Given the description of an element on the screen output the (x, y) to click on. 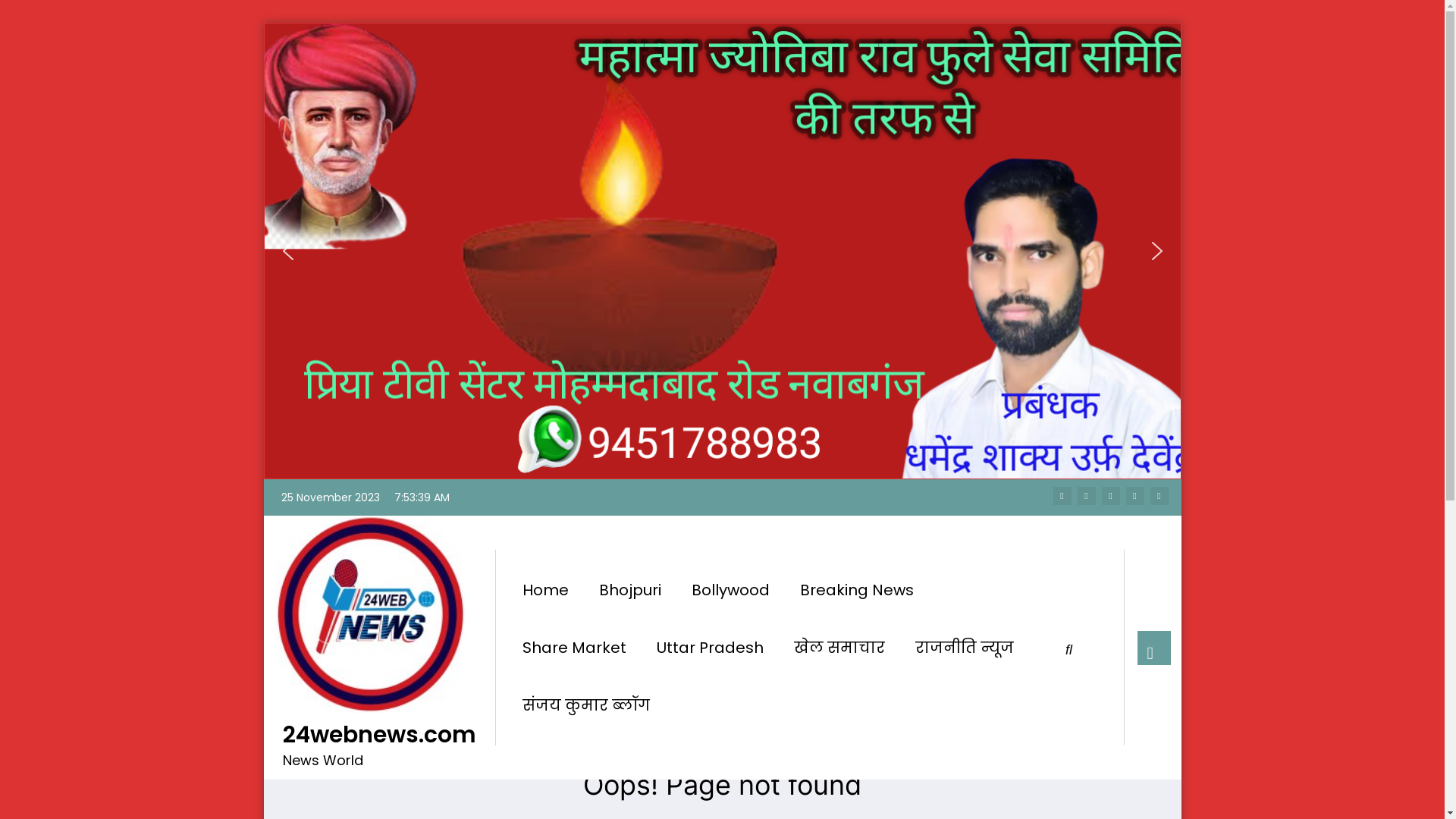
Bhojpuri Element type: text (629, 589)
Bollywood Element type: text (730, 589)
Home Element type: text (544, 589)
24webnews.com Element type: text (378, 734)
Skip to content Element type: text (262, 478)
Breaking News Element type: text (856, 589)
Uttar Pradesh Element type: text (709, 647)
Share Market Element type: text (573, 647)
